Given the description of an element on the screen output the (x, y) to click on. 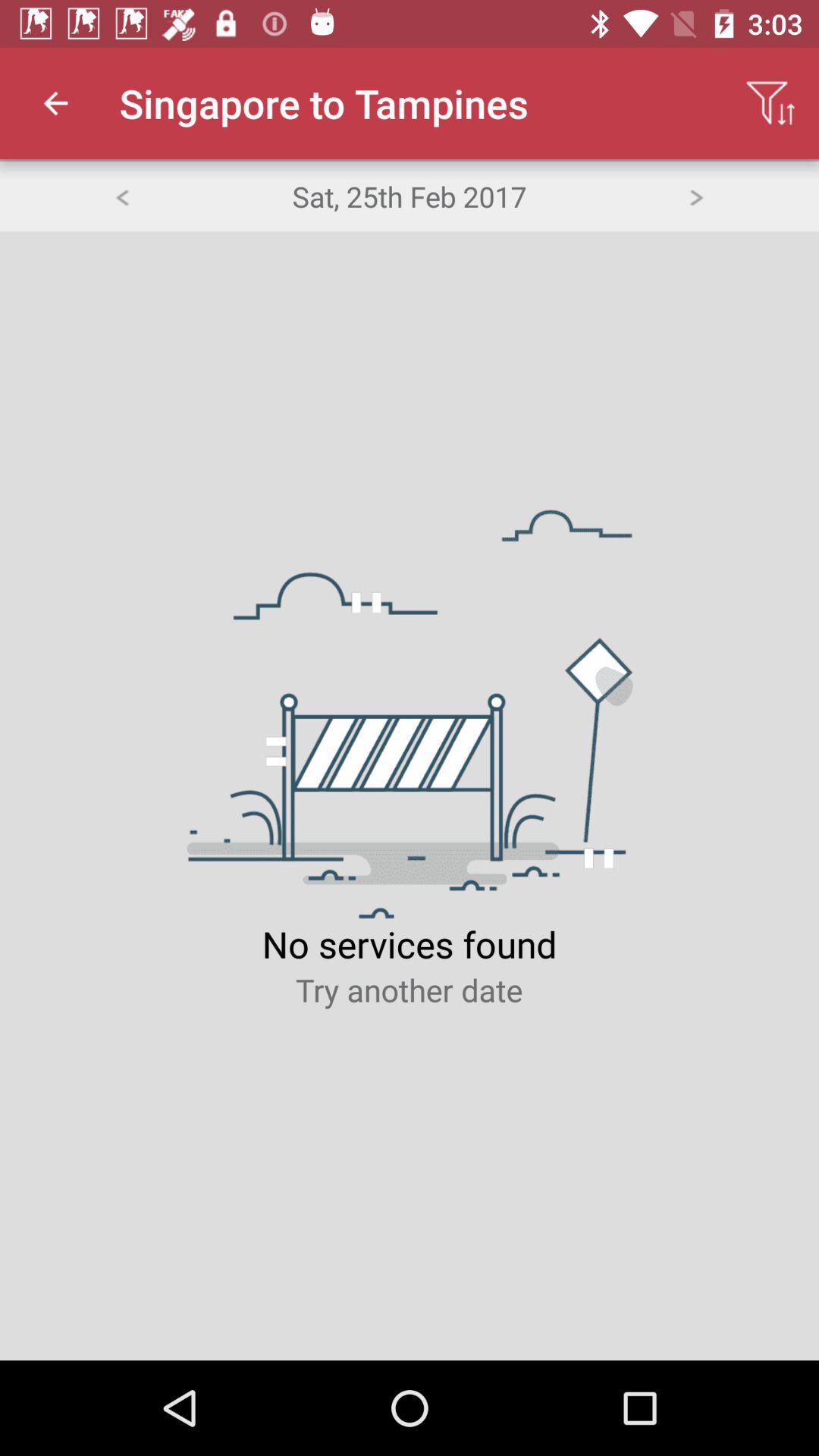
choose the item to the right of singapore to tampines item (770, 103)
